Given the description of an element on the screen output the (x, y) to click on. 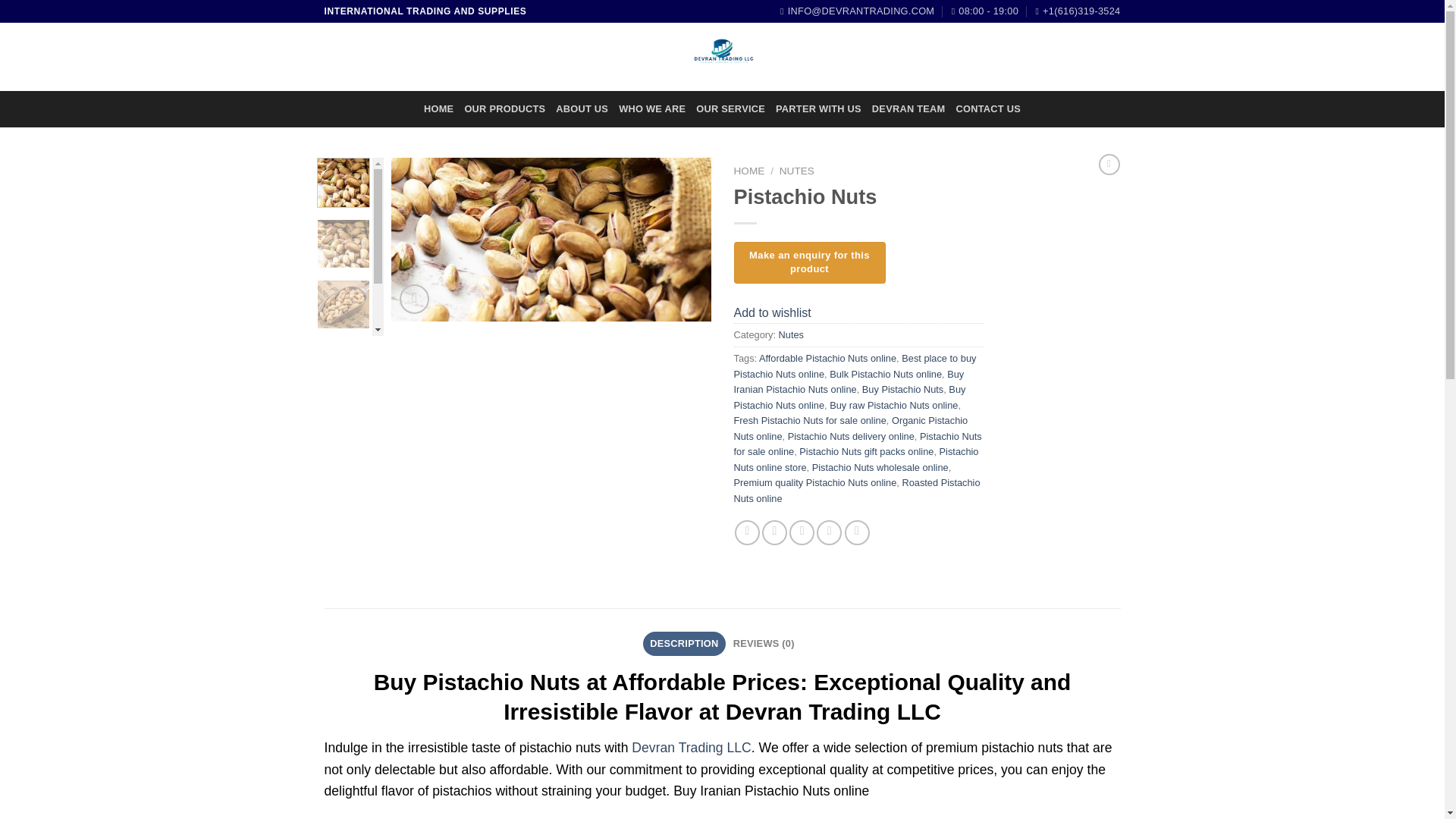
Share on Twitter (774, 532)
Share on Facebook (747, 532)
Buy raw Pistachio Nuts online (893, 405)
Best place to buy Pistachio Nuts online (854, 365)
Zoom (413, 298)
NUTES (795, 170)
Buy Iranian Pistachio Nuts online. (551, 239)
Buy Iranian Pistachio Nuts online (231, 317)
Buy Pistachio Nuts online (849, 397)
WHO WE ARE (651, 108)
08:00 - 19:00  (984, 11)
Buy Iranian Pistachio Nuts online (848, 381)
OUR PRODUCTS (504, 108)
PARTER WITH US (818, 108)
DEVRAN TRADING LLC - General Trading and Supplies (722, 56)
